Given the description of an element on the screen output the (x, y) to click on. 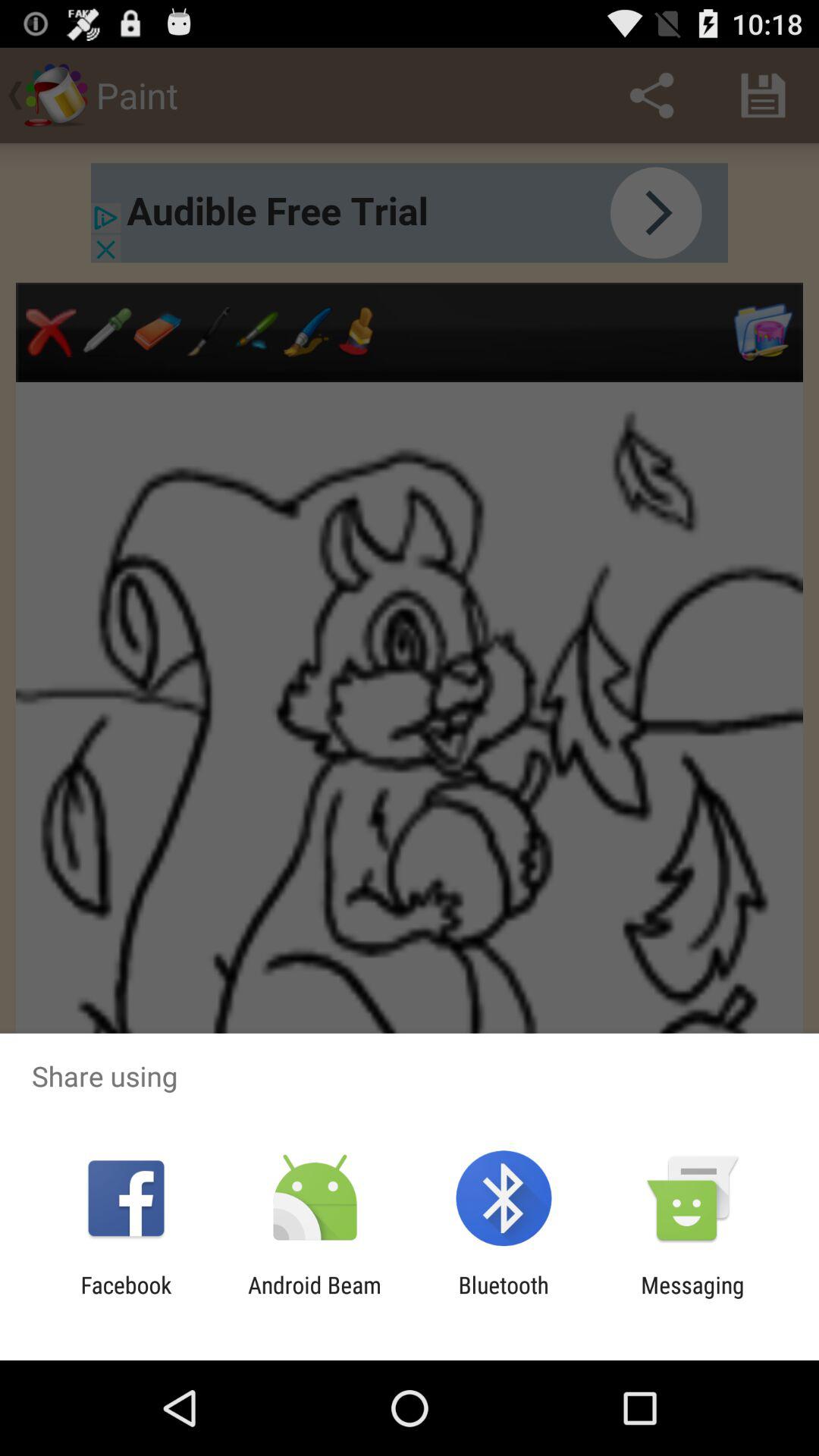
click the app to the right of bluetooth (692, 1298)
